Given the description of an element on the screen output the (x, y) to click on. 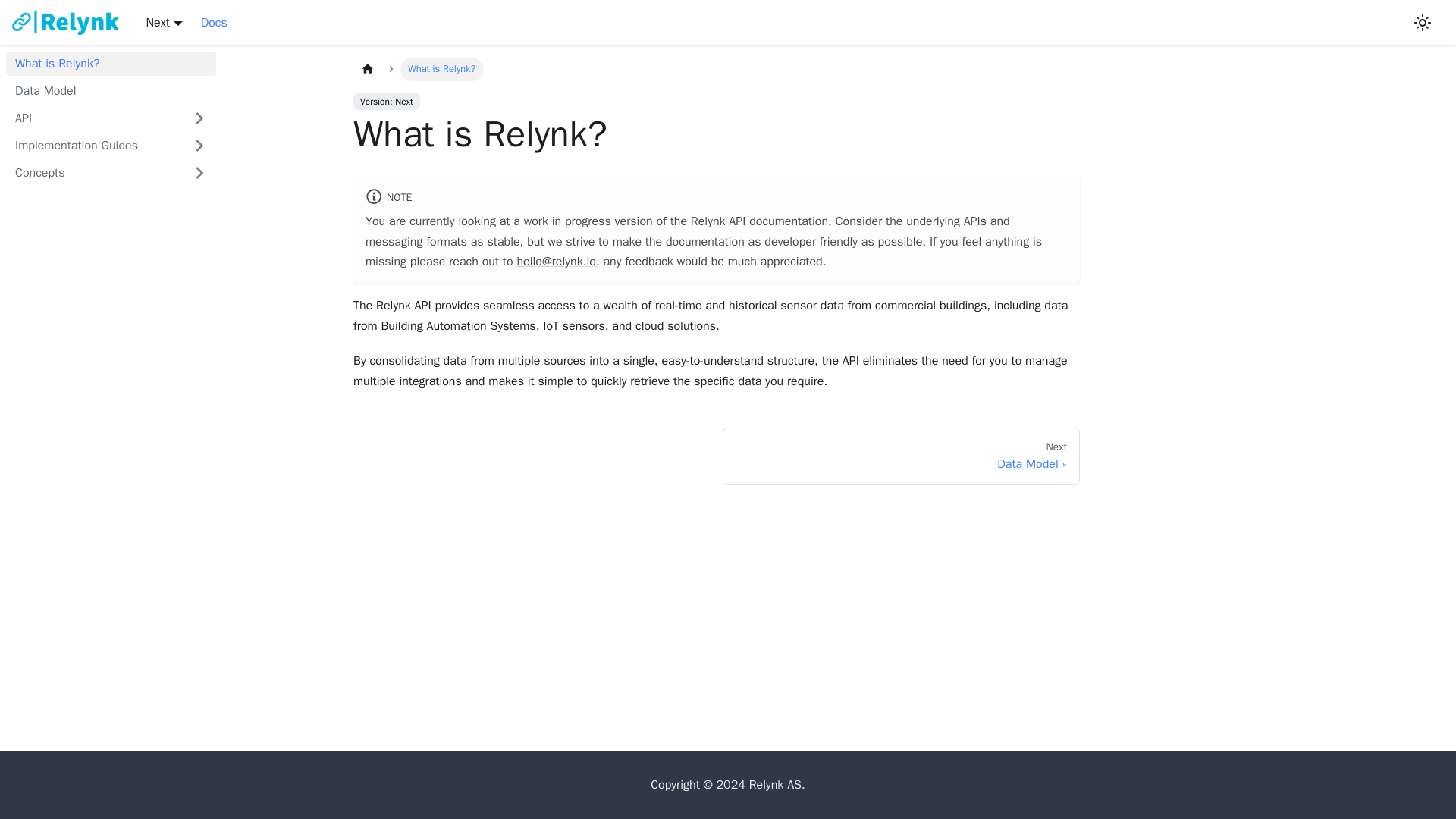
Next (901, 456)
API (165, 22)
Implementation Guides (94, 118)
What is Relynk? (94, 145)
Docs (110, 63)
Concepts (213, 22)
Data Model (94, 172)
